Given the description of an element on the screen output the (x, y) to click on. 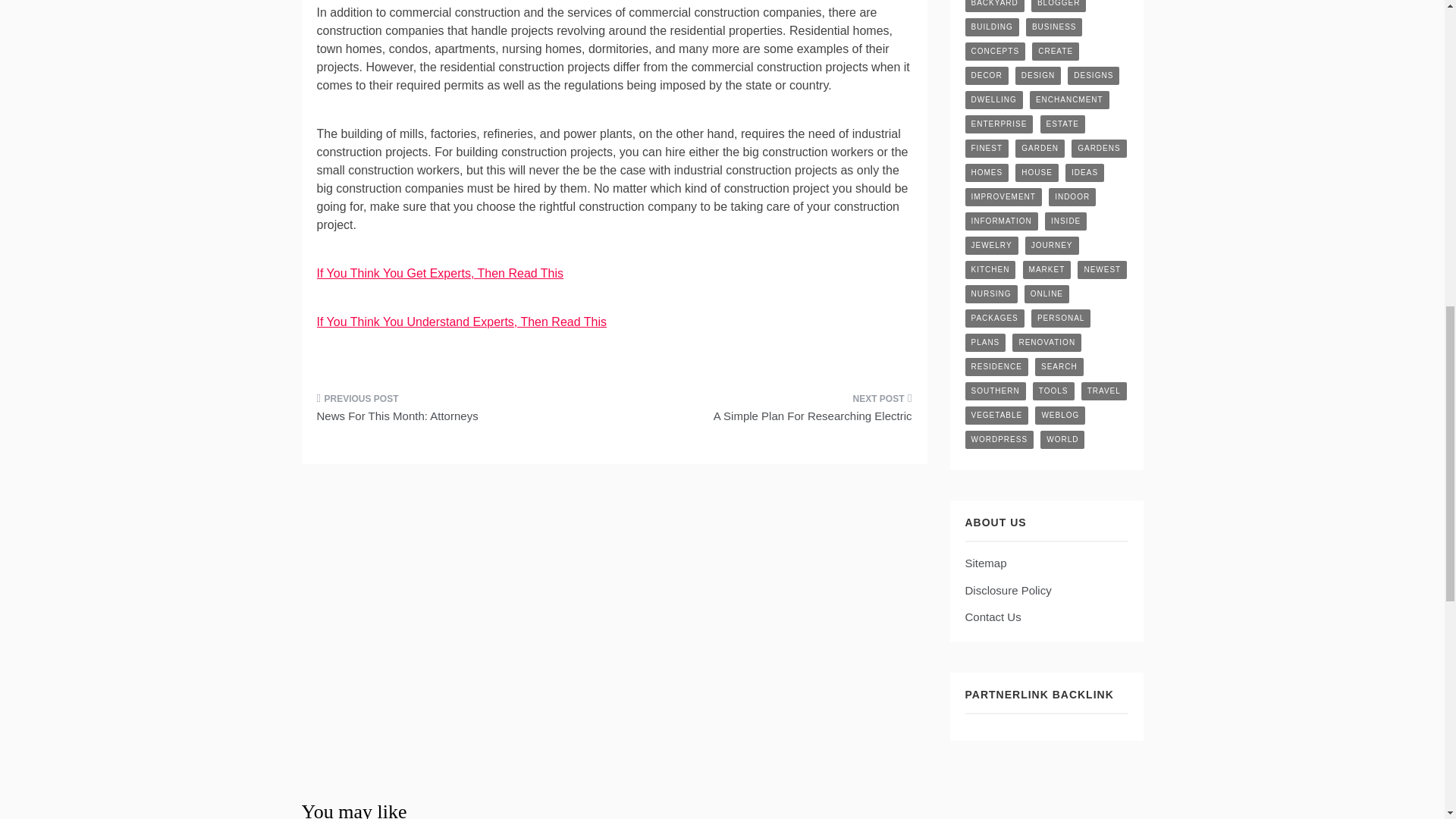
If You Think You Get Experts, Then Read This (440, 273)
BACKYARD (993, 6)
DESIGN (1037, 75)
BUILDING (990, 27)
DWELLING (992, 99)
If You Think You Understand Experts, Then Read This (462, 321)
BUSINESS (1054, 27)
DESIGNS (1093, 75)
CONCEPTS (994, 51)
A Simple Plan For Researching Electric (769, 412)
